Given the description of an element on the screen output the (x, y) to click on. 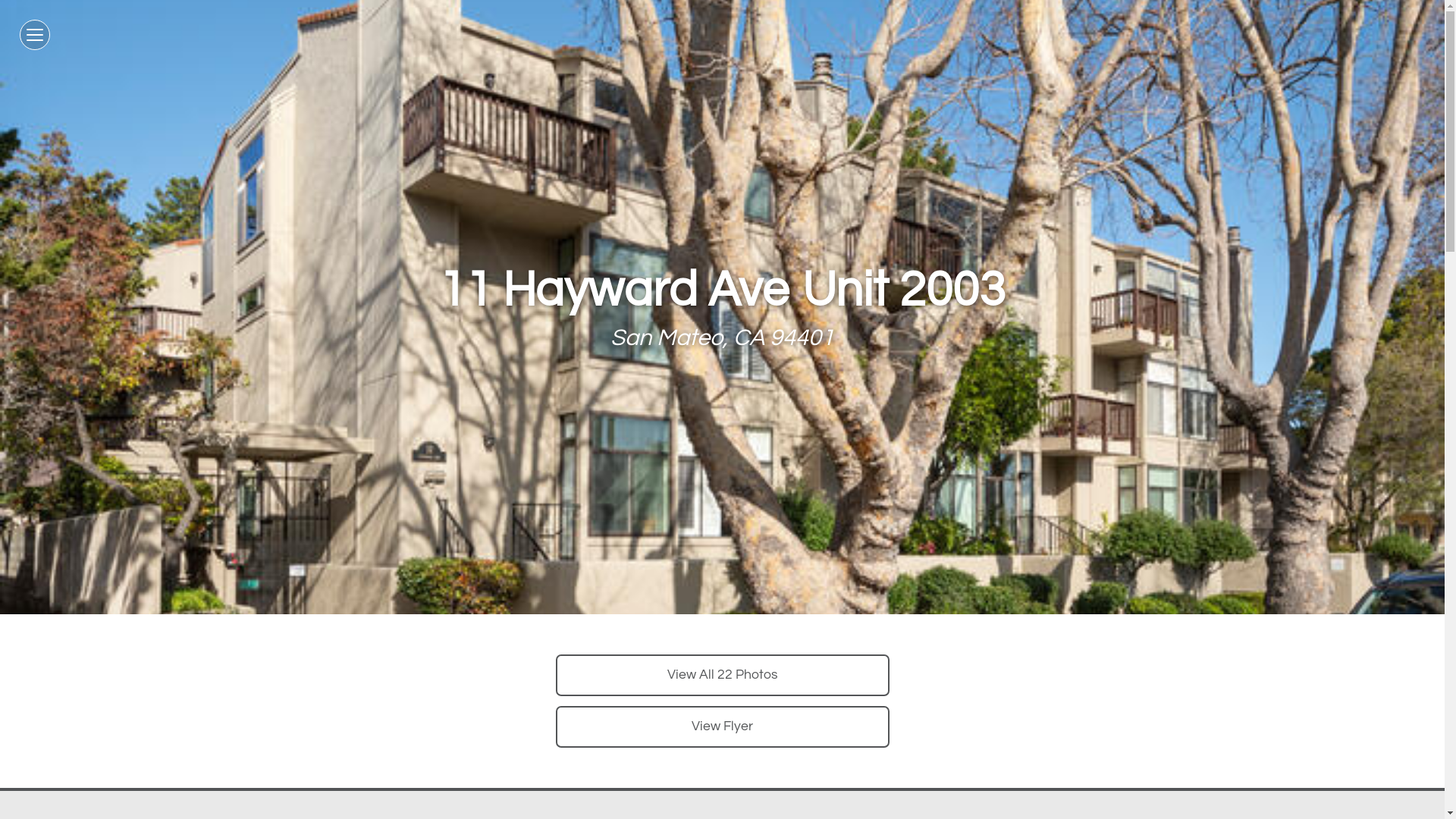
View Flyer Element type: text (721, 726)
